Given the description of an element on the screen output the (x, y) to click on. 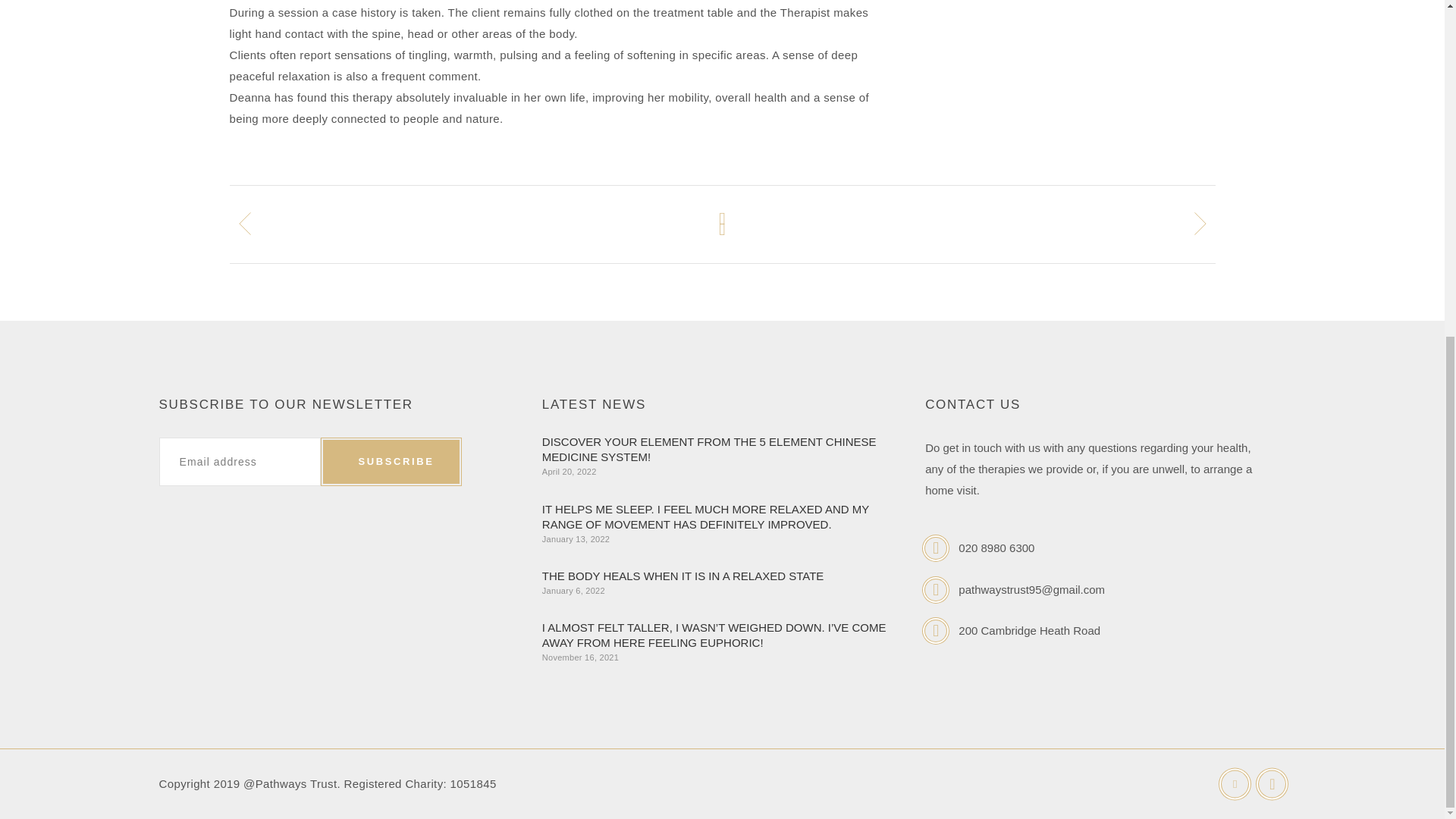
Subscribe (391, 461)
The body heals when it is in a relaxed state (682, 575)
